Given the description of an element on the screen output the (x, y) to click on. 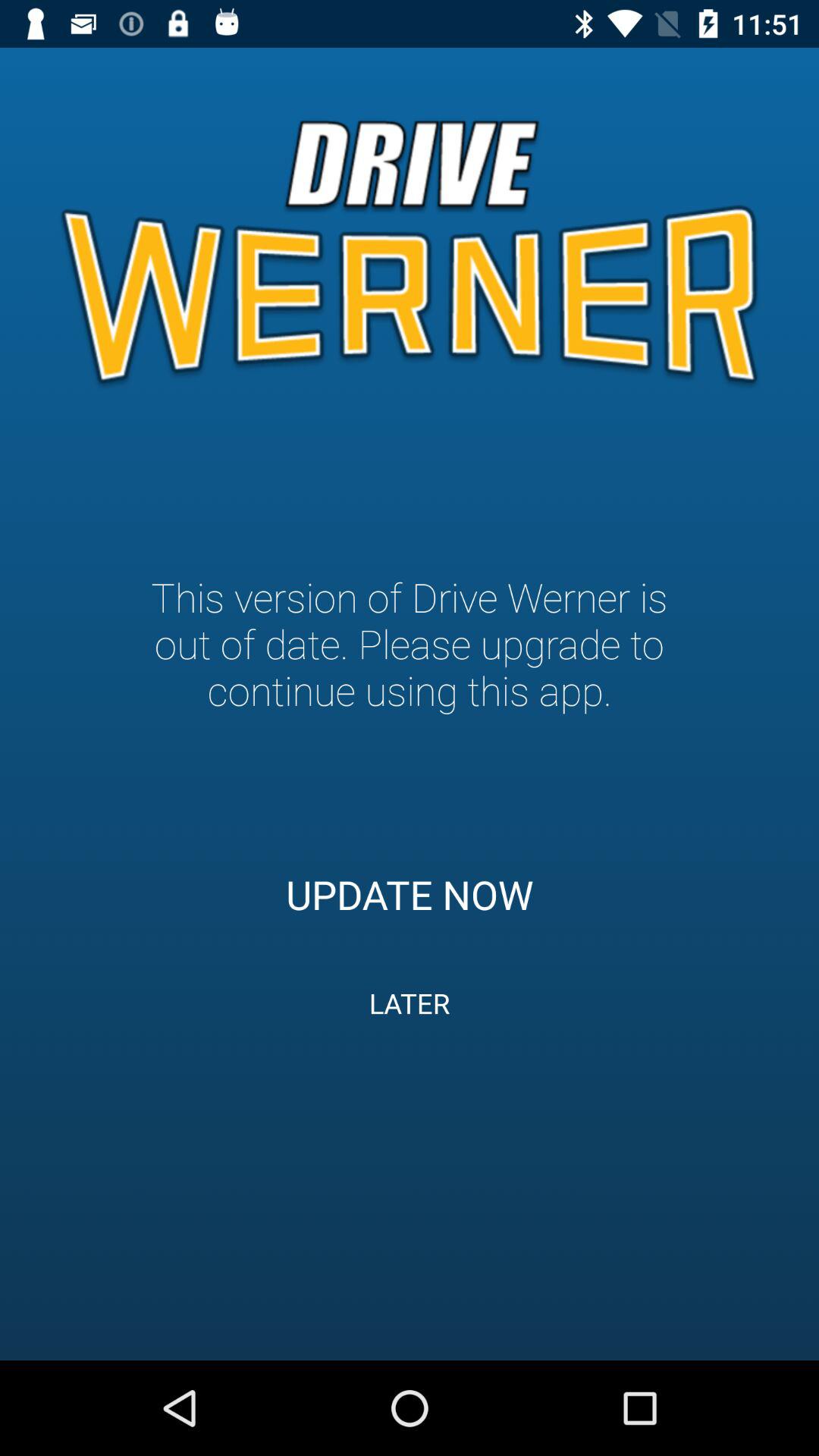
turn on update now (409, 894)
